Given the description of an element on the screen output the (x, y) to click on. 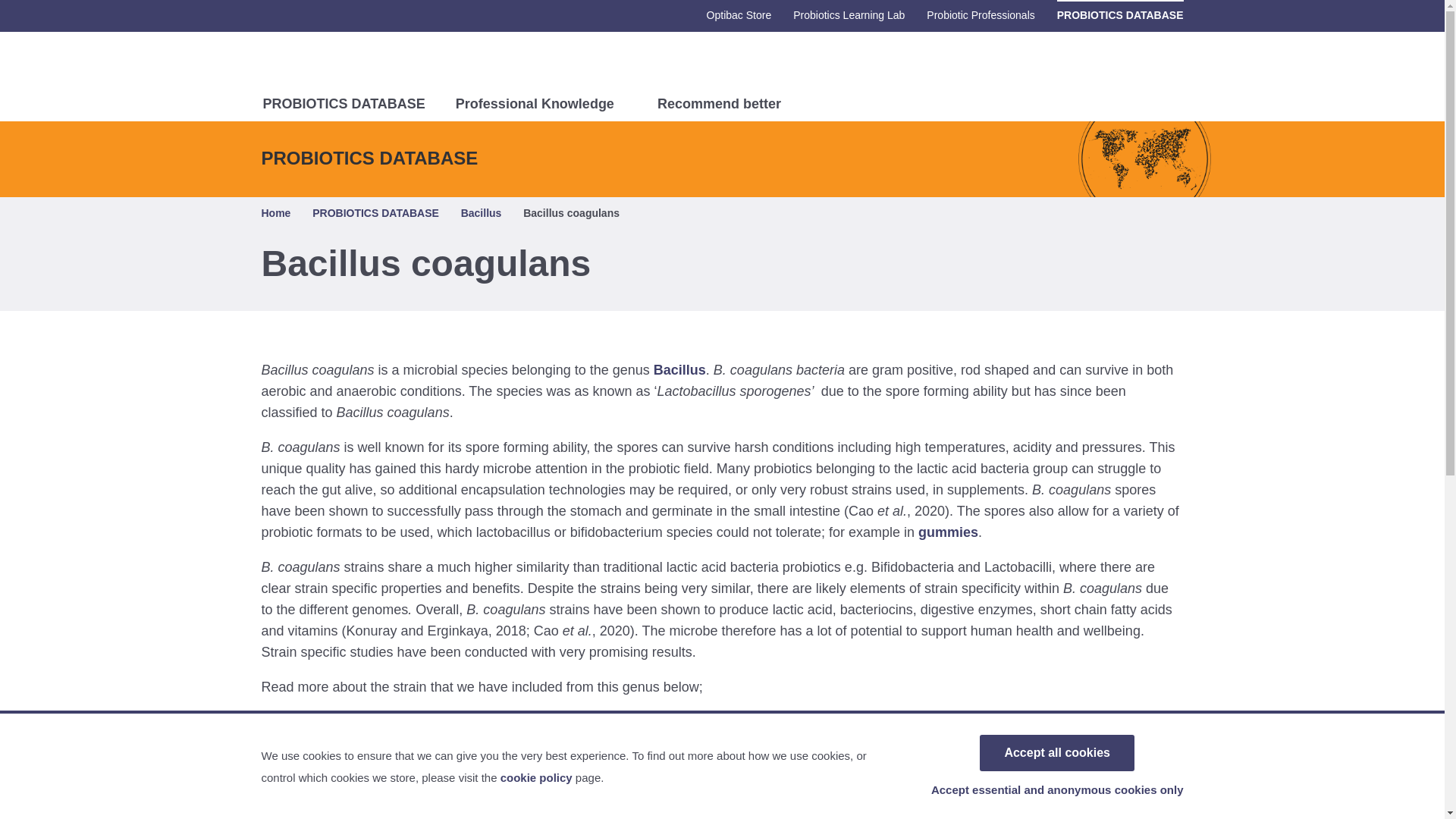
Home (274, 213)
Bacillus coagulans Unique IS-2 (361, 722)
Bacillus (679, 370)
Bacillus (481, 213)
Probiotics Professionals (327, 63)
Probiotic Professionals (979, 15)
Region selector (1162, 68)
Professional Knowledge (541, 107)
PROBIOTICS DATABASE (1120, 15)
Probiotics Learning Lab (848, 15)
Probiotics Professionals (327, 63)
gummies (948, 532)
Optibac Store (738, 15)
PROBIOTICS DATABASE (376, 213)
PROBIOTICS DATABASE (343, 107)
